Given the description of an element on the screen output the (x, y) to click on. 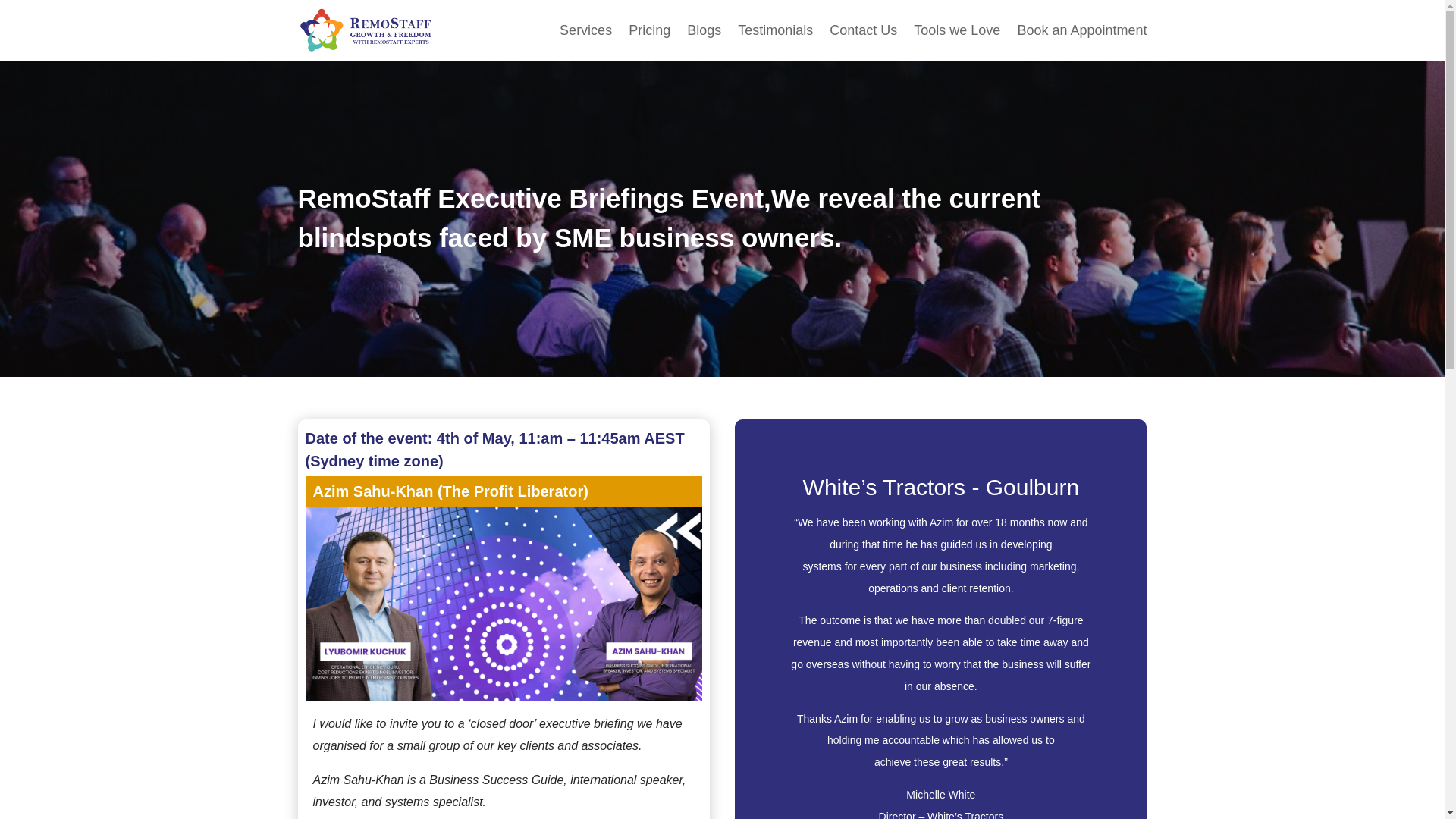
Tools we Love (957, 33)
Blogs (703, 33)
BANNER 3 (502, 603)
Services (585, 33)
Contact Us (862, 33)
Book an Appointment (1081, 33)
Pricing (648, 33)
Testimonials (775, 33)
